Given the description of an element on the screen output the (x, y) to click on. 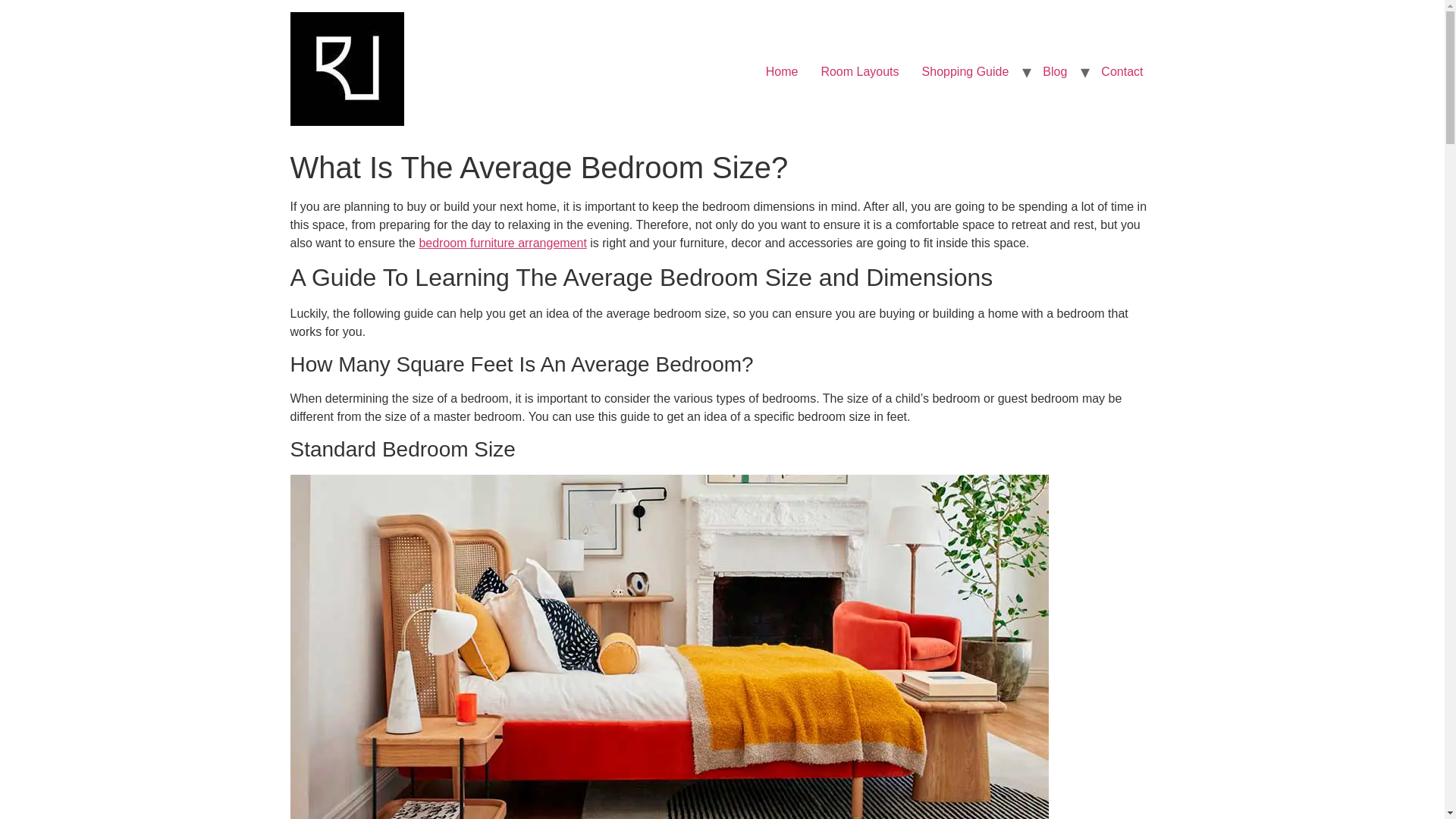
Blog (1054, 71)
bedroom furniture arrangement (502, 242)
Contact (1121, 71)
Room Layouts (859, 71)
Shopping Guide (965, 71)
Home (781, 71)
